Given the description of an element on the screen output the (x, y) to click on. 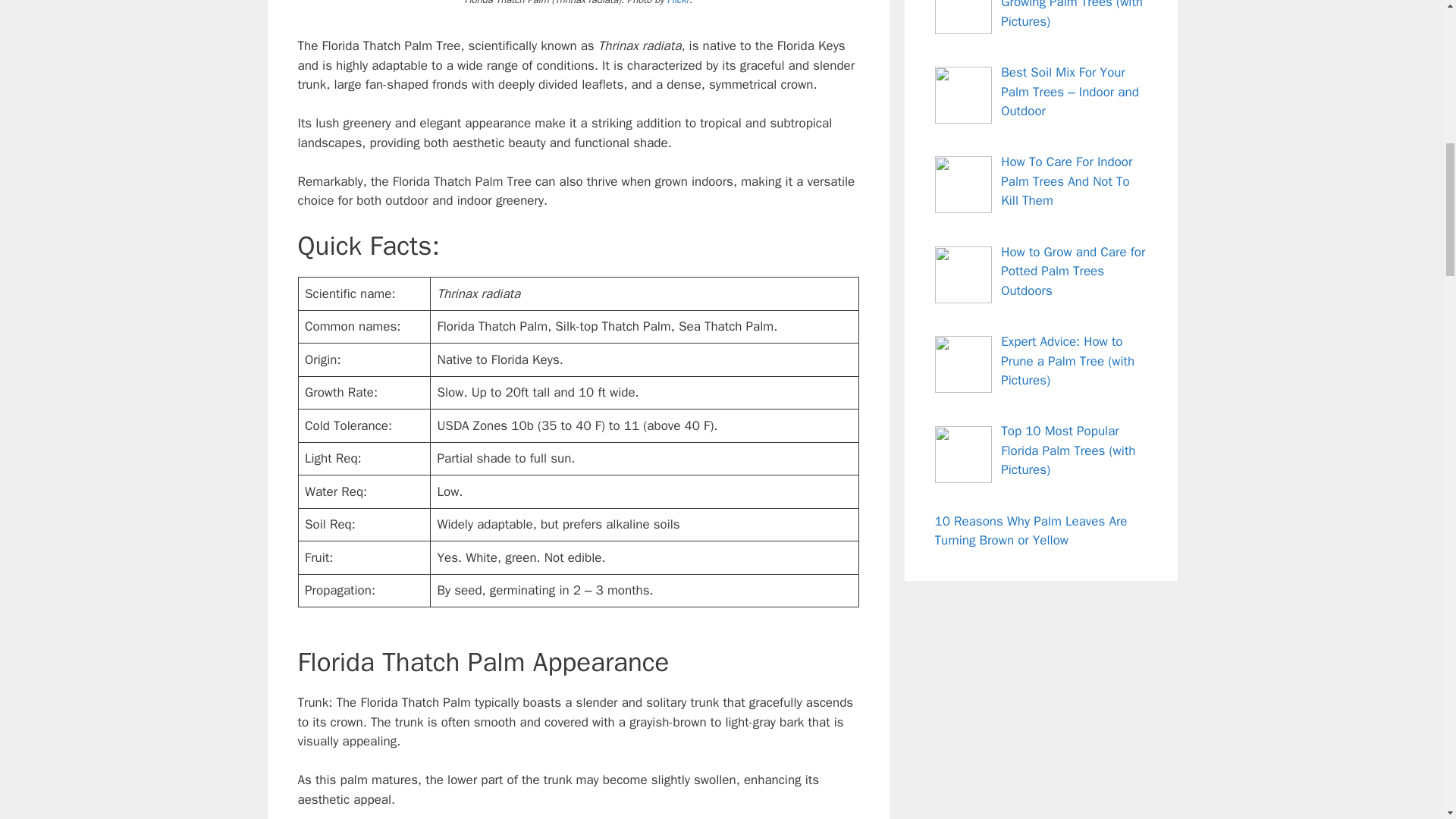
How To Care For Indoor Palm Trees And Not To Kill Them (1066, 180)
How to Grow and Care for Potted Palm Trees Outdoors (1072, 271)
Flickr (677, 2)
